Given the description of an element on the screen output the (x, y) to click on. 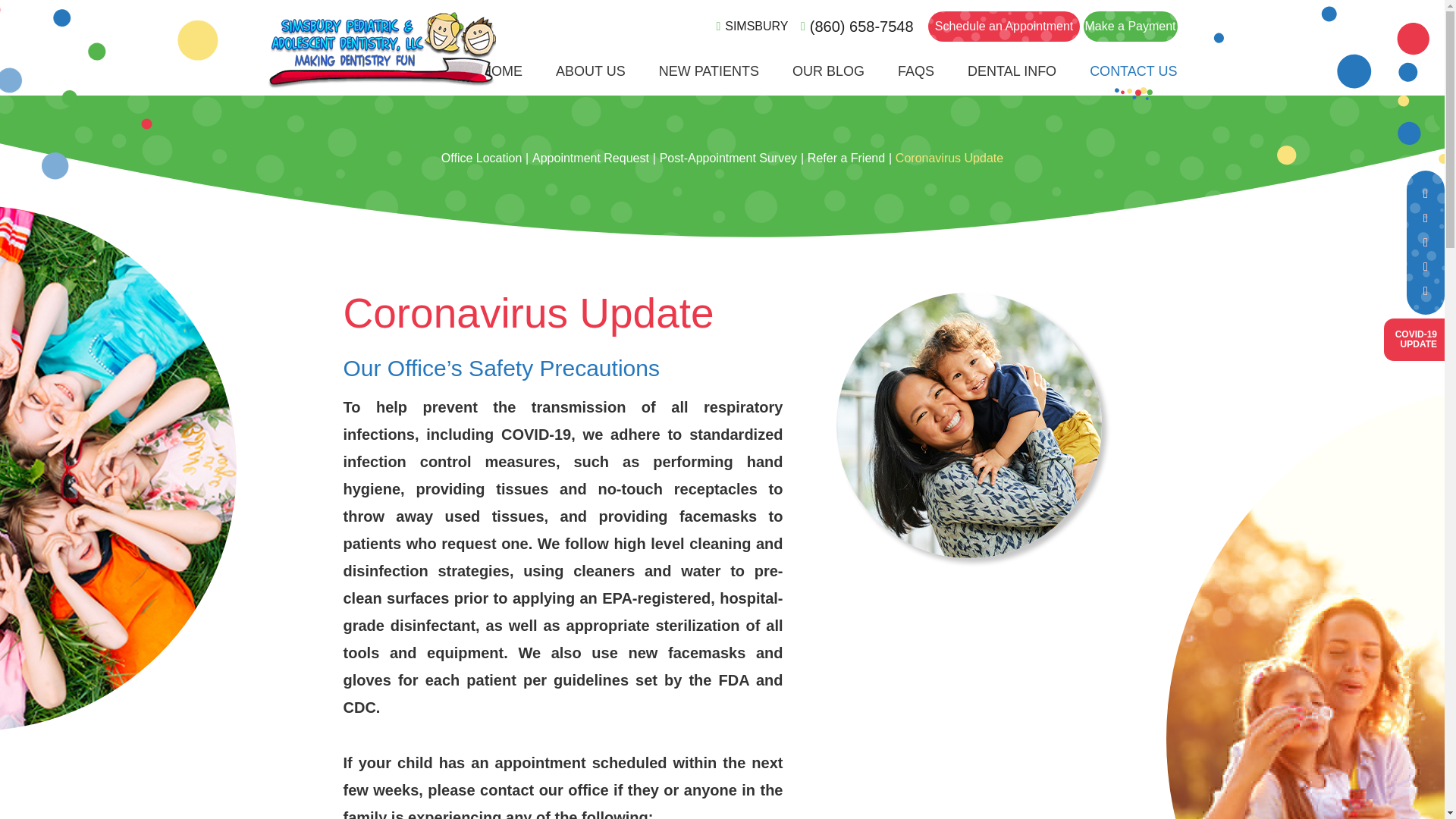
FAQS (916, 79)
CONTACT US (1132, 79)
Office Location (481, 158)
HOME (501, 79)
Make a Payment (1129, 26)
Schedule an Appointment (1004, 26)
SIMSBURY (751, 26)
NEW PATIENTS (1414, 339)
ABOUT US (708, 79)
Appointment Request (591, 79)
DENTAL INFO (590, 158)
OUR BLOG (1012, 79)
